Given the description of an element on the screen output the (x, y) to click on. 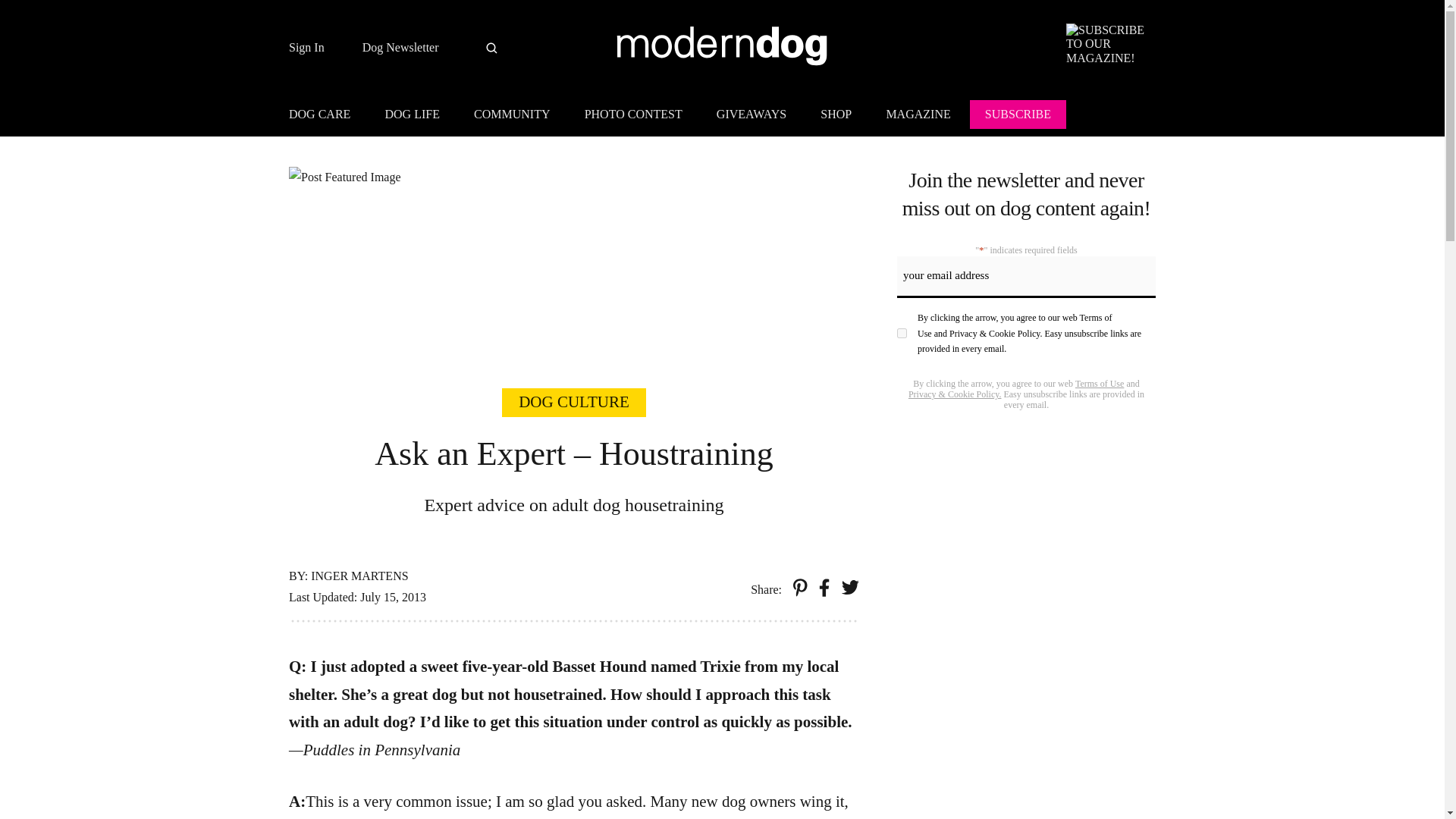
DOG CARE (326, 116)
DOG LIFE (411, 116)
Dog Newsletter (400, 47)
Sign In (306, 47)
